Given the description of an element on the screen output the (x, y) to click on. 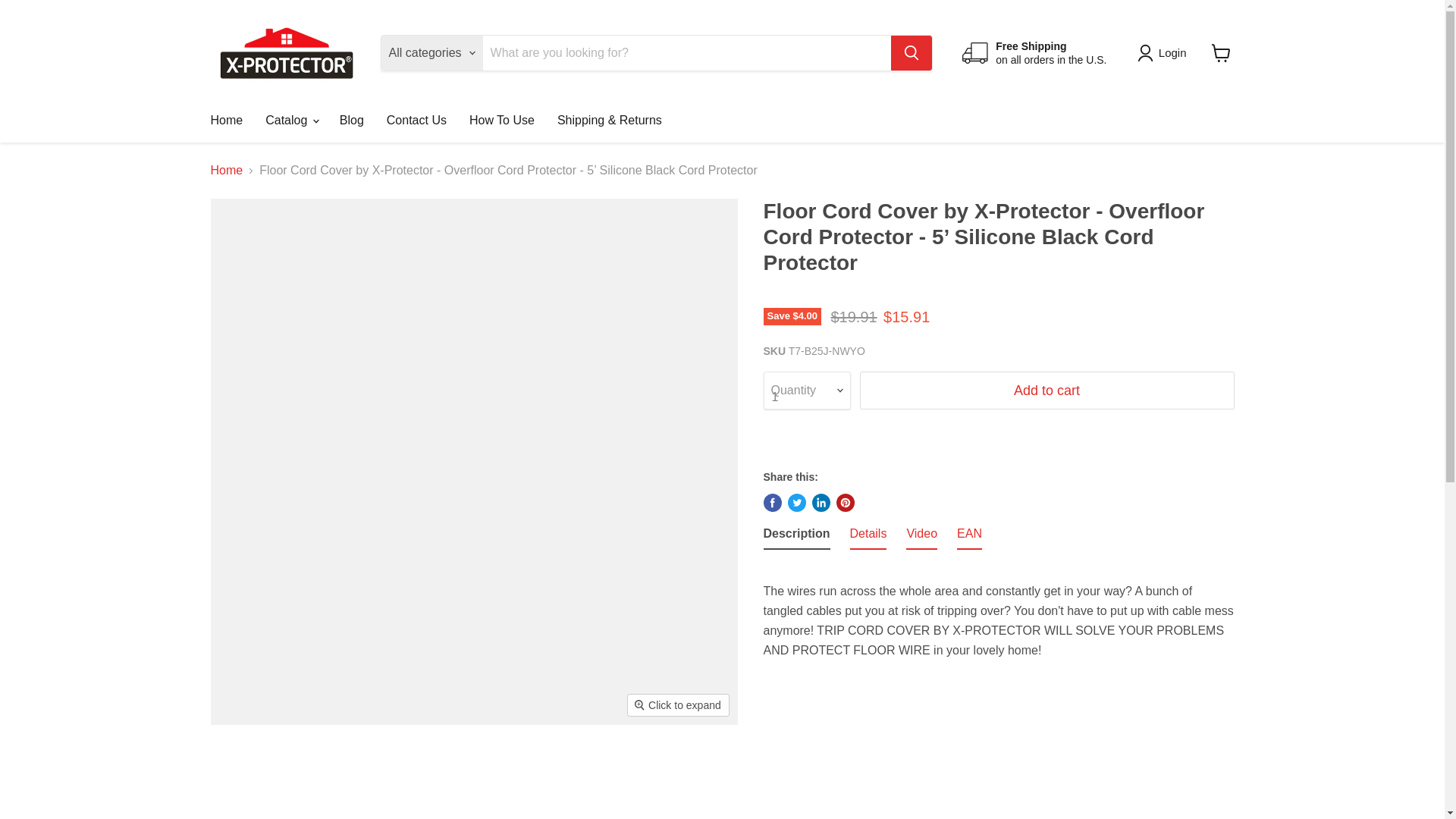
How To Use (502, 120)
Home (225, 120)
View cart (1221, 52)
Blog (352, 120)
Contact Us (416, 120)
Login (1172, 53)
